Given the description of an element on the screen output the (x, y) to click on. 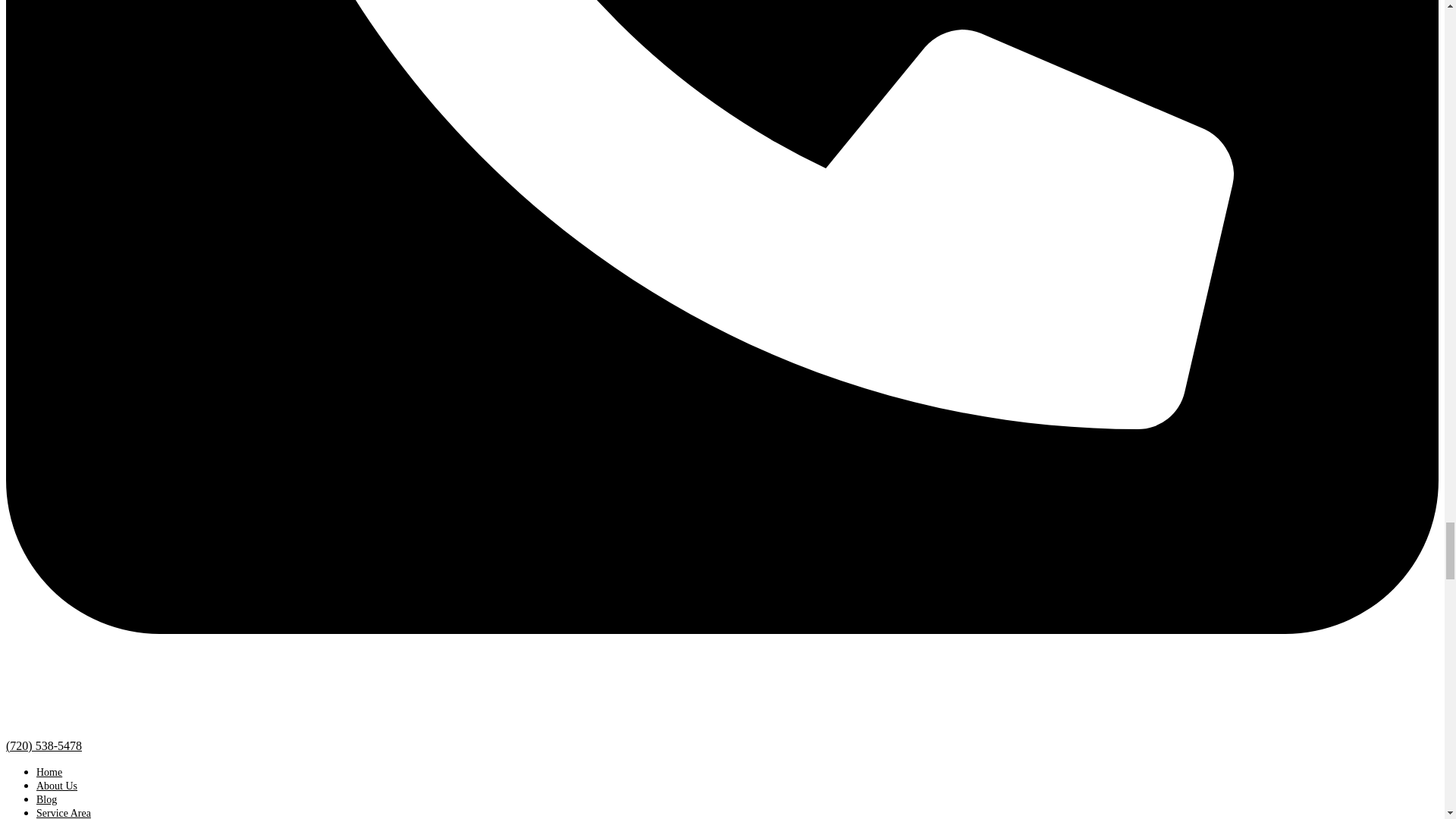
Service Area (63, 813)
Home (49, 772)
Blog (46, 799)
About Us (56, 785)
